Given the description of an element on the screen output the (x, y) to click on. 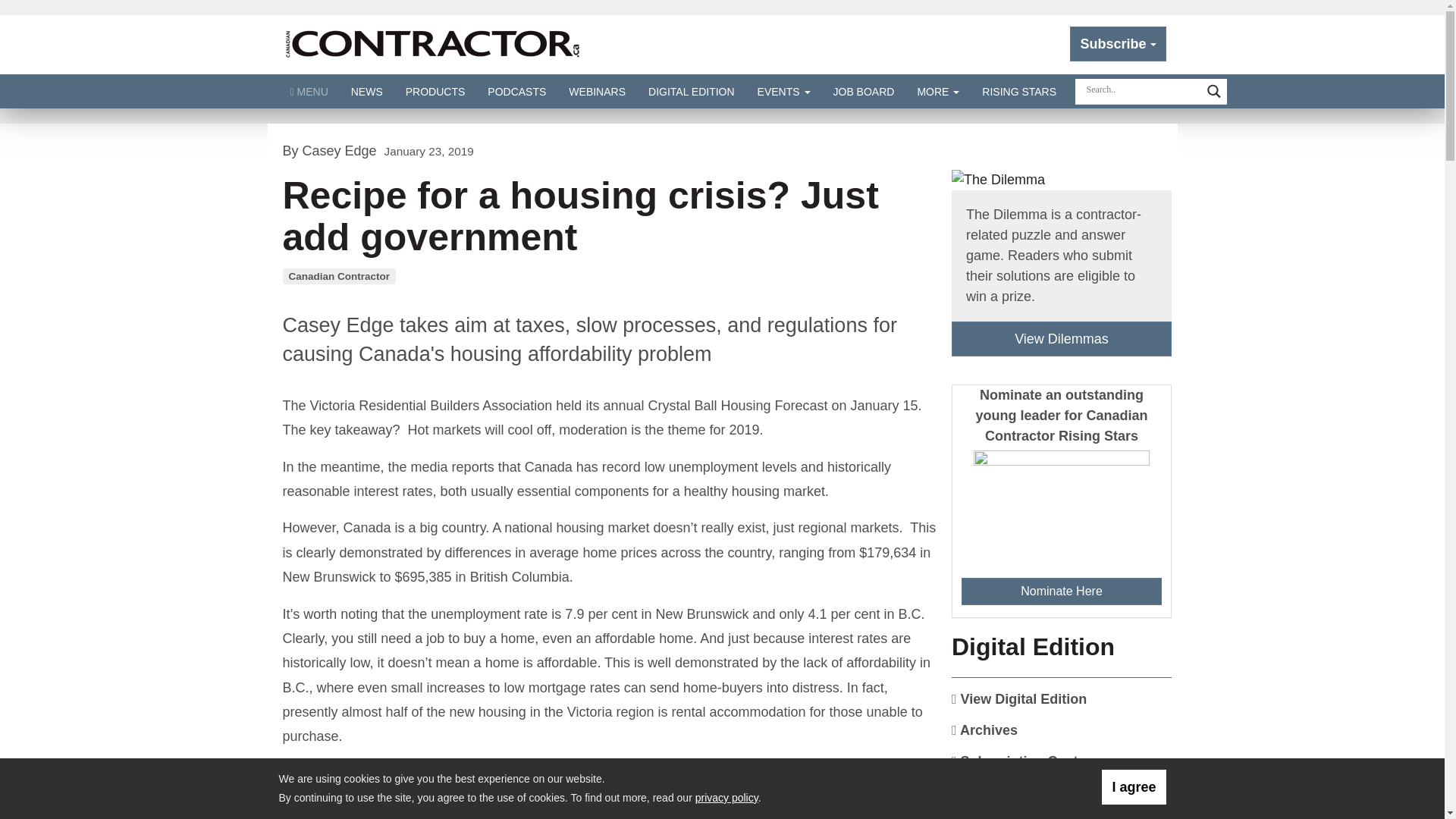
MORE (938, 91)
DIGITAL EDITION (691, 91)
Subscribe (1118, 43)
PODCASTS (516, 91)
Canadian Contractor (432, 43)
JOB BOARD (863, 91)
EVENTS (783, 91)
RISING STARS (1019, 91)
NEWS (366, 91)
Click to show site navigation (309, 91)
MENU (309, 91)
PRODUCTS (435, 91)
WEBINARS (597, 91)
